Given the description of an element on the screen output the (x, y) to click on. 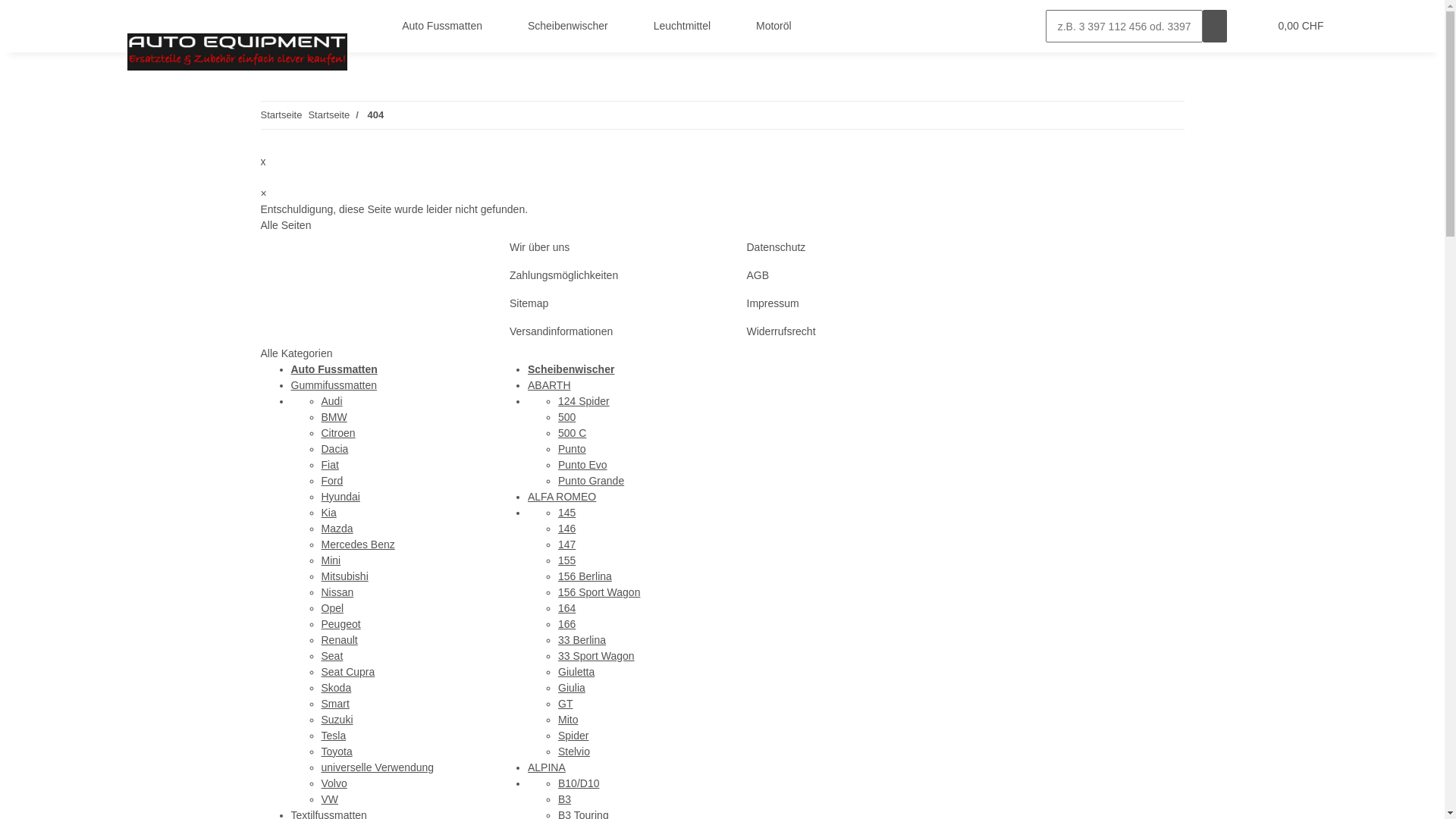
Gummifussmatten Element type: text (334, 385)
Spider Element type: text (573, 735)
Skoda Element type: text (336, 686)
Punto Evo Element type: text (582, 464)
Fiat Element type: text (329, 464)
universelle Verwendung Element type: text (377, 767)
Auto Fussmatten Element type: text (334, 368)
156 Berlina Element type: text (584, 576)
Hyundai Element type: text (340, 495)
Scheibenwischer Element type: text (570, 368)
Opel Element type: text (332, 608)
Mini Element type: text (331, 559)
Giulia Element type: text (571, 686)
156 Sport Wagon Element type: text (599, 591)
Kia Element type: text (328, 512)
166 Element type: text (566, 623)
Punto Element type: text (572, 448)
VW Element type: text (329, 799)
33 Sport Wagon Element type: text (596, 655)
Smart Element type: text (335, 703)
ABARTH Element type: text (549, 385)
Audi Element type: text (331, 400)
GT Element type: text (565, 703)
Leuchtmittel Element type: text (686, 26)
Ford Element type: text (332, 480)
Startseite Element type: text (281, 114)
Giuletta Element type: text (576, 671)
Startseite Element type: text (328, 114)
Auto Fussmatten Element type: text (446, 26)
500 C Element type: text (572, 432)
164 Element type: text (566, 608)
145 Element type: text (566, 512)
Mazda Element type: text (337, 527)
ALFA ROMEO Element type: text (561, 495)
Seat Cupra Element type: text (348, 671)
146 Element type: text (566, 527)
155 Element type: text (566, 559)
Impressum Element type: text (840, 303)
Versandinformationen Element type: text (603, 330)
Suzuki Element type: text (337, 718)
BMW Element type: text (334, 417)
Punto Grande Element type: text (591, 480)
Widerrufsrecht Element type: text (840, 330)
Nissan Element type: text (337, 591)
500 Element type: text (566, 417)
Volvo Element type: text (334, 782)
147 Element type: text (566, 544)
Seat Element type: text (332, 655)
AGB Element type: text (840, 274)
Renault Element type: text (339, 639)
124 Spider Element type: text (583, 400)
Stelvio Element type: text (573, 750)
Toyota Element type: text (336, 750)
Citroen Element type: text (338, 432)
Mitsubishi Element type: text (344, 576)
33 Berlina Element type: text (581, 639)
B3 Element type: text (564, 799)
ALPINA Element type: text (546, 767)
Dacia Element type: text (334, 448)
Sitemap Element type: text (603, 303)
404 Element type: text (375, 114)
B10/D10 Element type: text (578, 782)
Datenschutz Element type: text (840, 247)
Tesla Element type: text (333, 735)
Peugeot Element type: text (340, 623)
Auto Equipment Element type: hover (237, 51)
Mito Element type: text (567, 718)
Mercedes Benz Element type: text (358, 544)
Scheibenwischer Element type: text (572, 26)
0,00 CHF Element type: text (1299, 26)
